Given the description of an element on the screen output the (x, y) to click on. 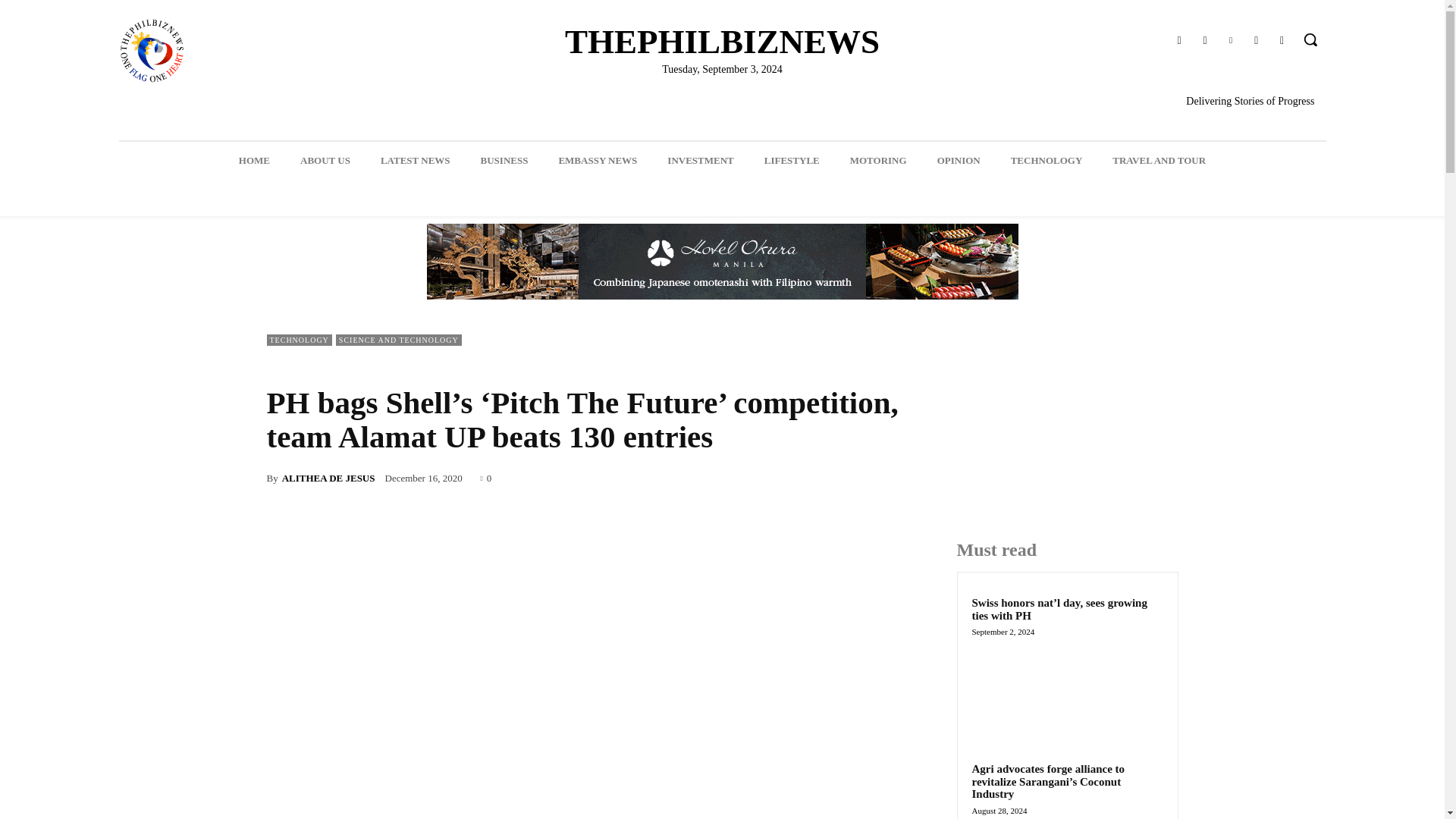
TRAVEL AND TOUR (1159, 160)
Linkedin (1230, 40)
INVESTMENT (700, 160)
EMBASSY NEWS (597, 160)
TECHNOLOGY (1046, 160)
Twitter (1256, 40)
Instagram (1204, 40)
MOTORING (877, 160)
LATEST NEWS (415, 160)
BUSINESS (504, 160)
